Given the description of an element on the screen output the (x, y) to click on. 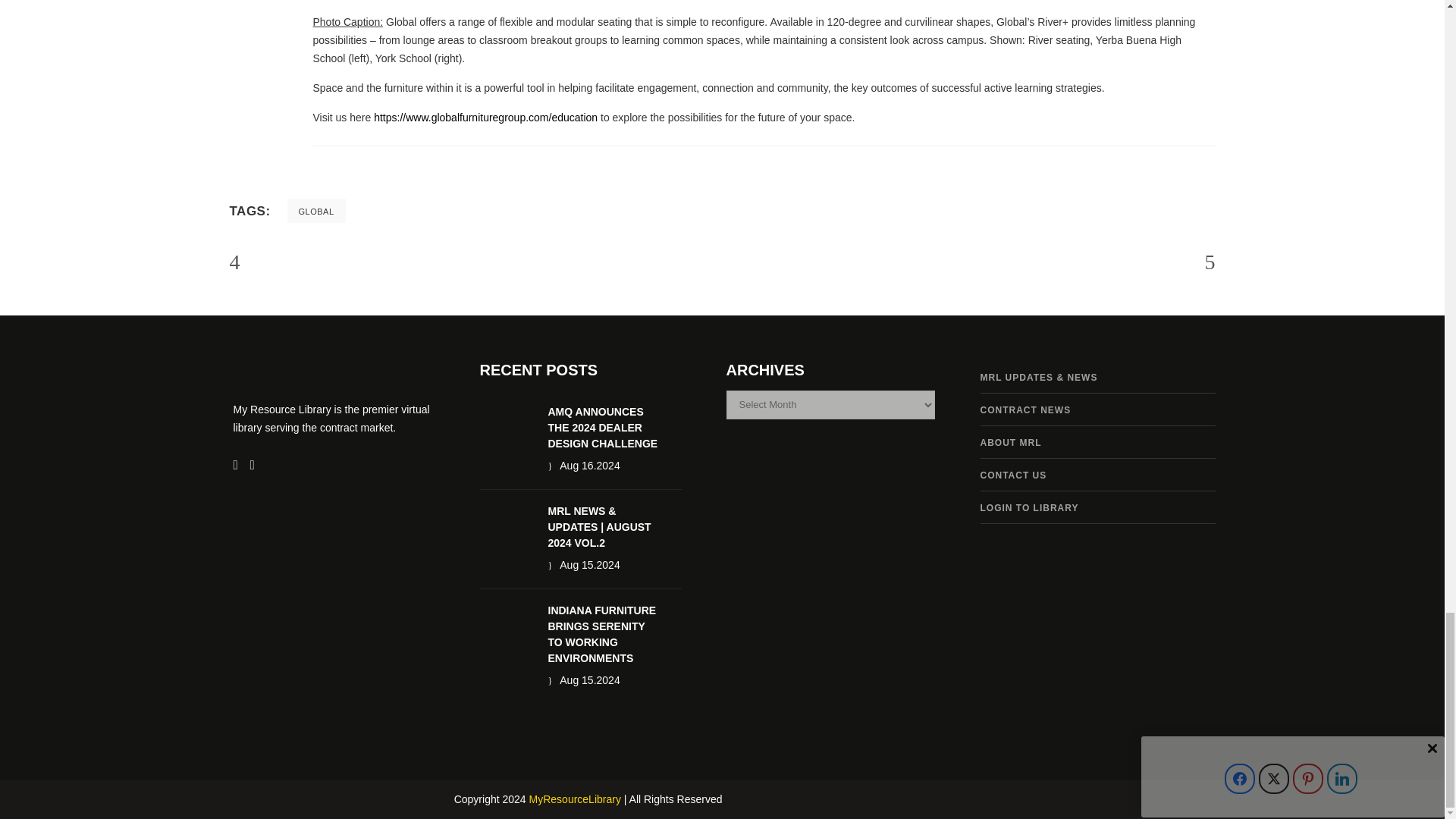
ABOUT MRL (1010, 442)
LOGIN TO LIBRARY (1028, 508)
CONTACT US (1012, 475)
INDIANA FURNITURE BRINGS SERENITY TO WORKING ENVIRONMENTS (601, 634)
CONTRACT NEWS (1024, 409)
GLOBAL (316, 210)
AMQ ANNOUNCES THE 2024 DEALER DESIGN CHALLENGE (602, 427)
